Given the description of an element on the screen output the (x, y) to click on. 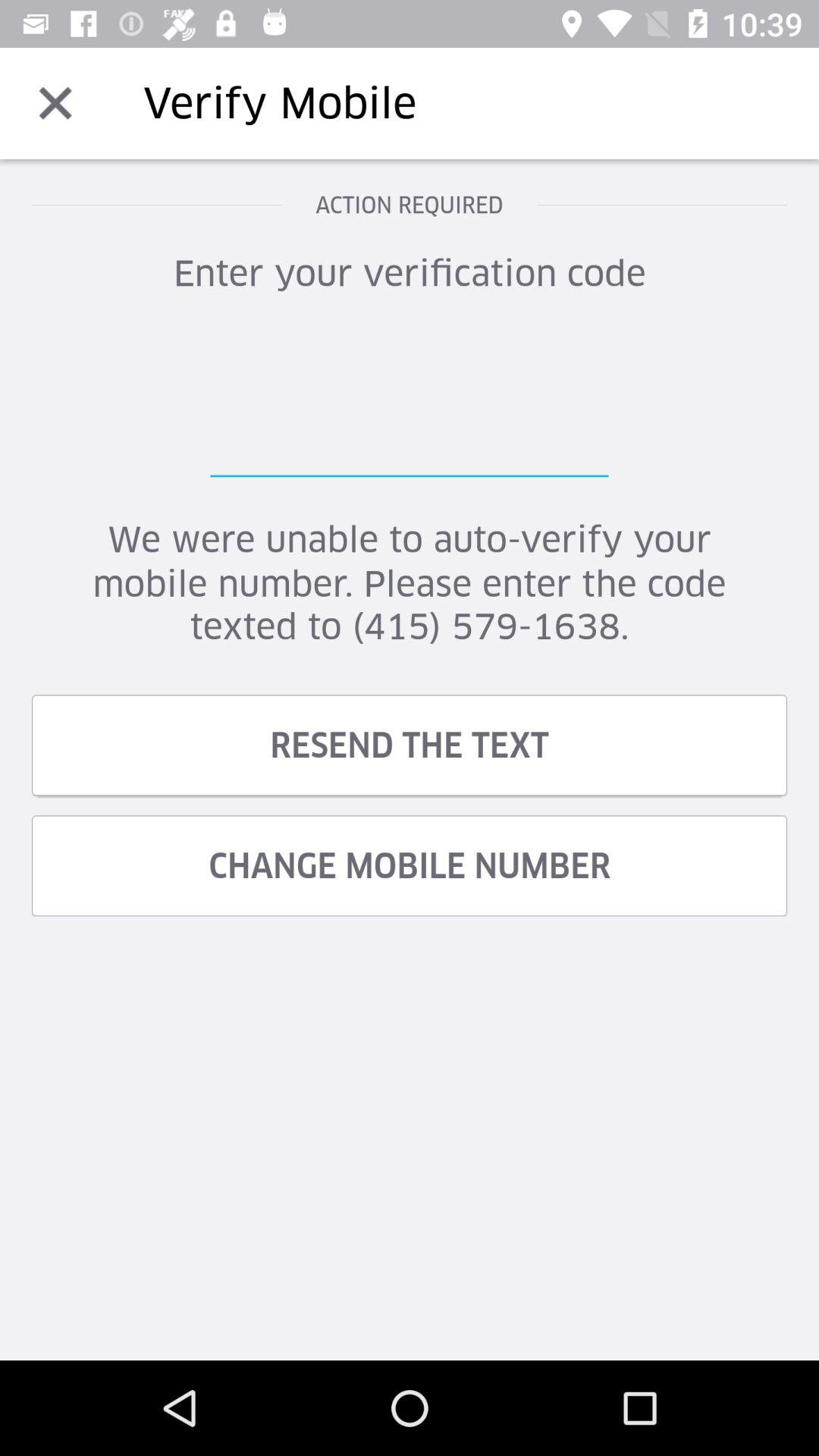
turn off the icon next to verify mobile (55, 103)
